Given the description of an element on the screen output the (x, y) to click on. 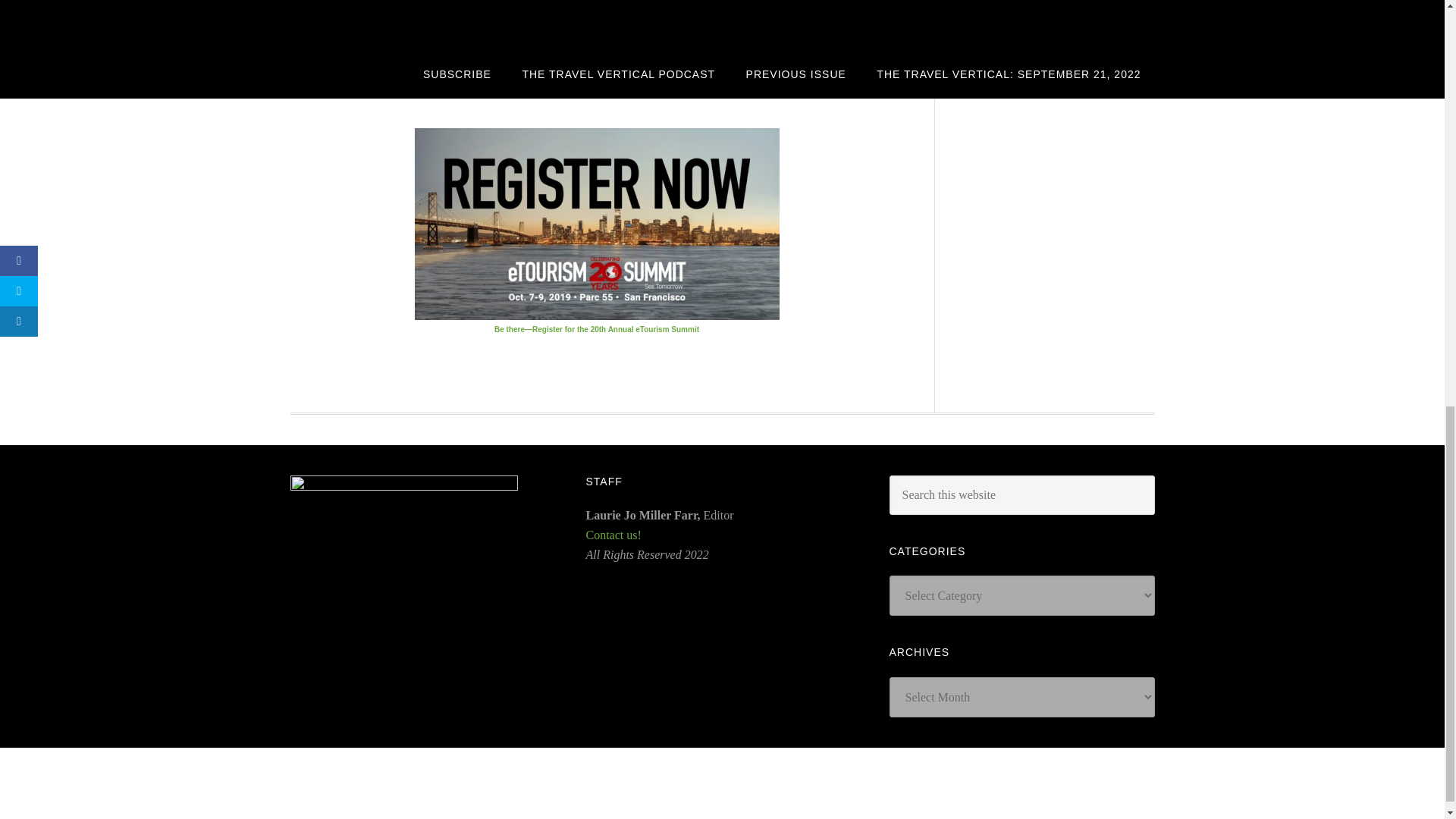
Contact us! (612, 534)
more buzz here (547, 64)
